Given the description of an element on the screen output the (x, y) to click on. 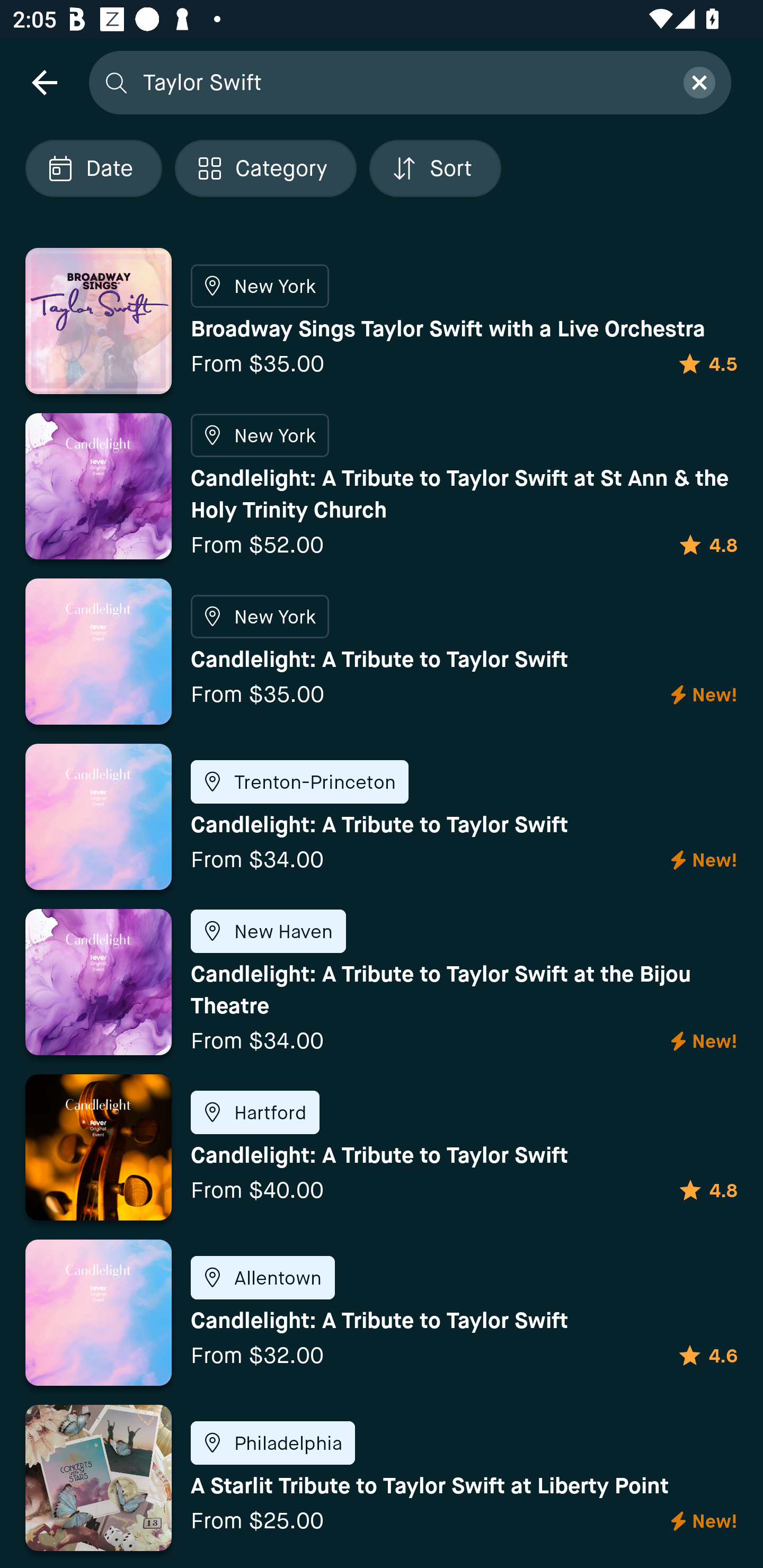
navigation icon (44, 81)
Taylor Swift (402, 81)
Localized description Date (93, 168)
Localized description Category (265, 168)
Localized description Sort (435, 168)
